Given the description of an element on the screen output the (x, y) to click on. 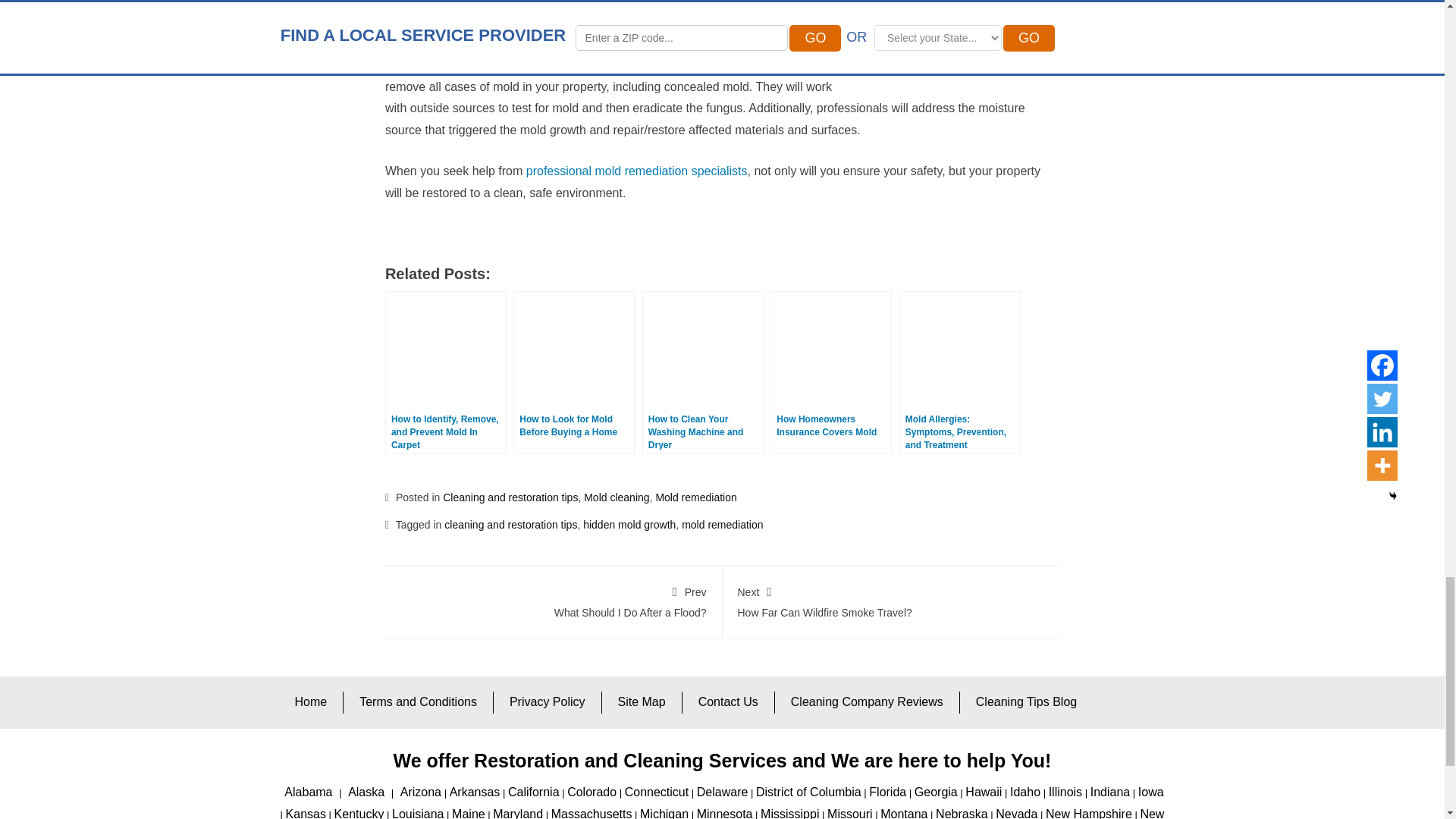
Mold remediation (695, 497)
Hands of a professional Mold Removal technician (962, 6)
professional mold remediation services (517, 64)
Mold cleaning (616, 497)
mold removal (666, 4)
Cleaning and restoration tips (510, 497)
cleaning and restoration tips (510, 524)
professional mold remediation specialists (636, 170)
